Given the description of an element on the screen output the (x, y) to click on. 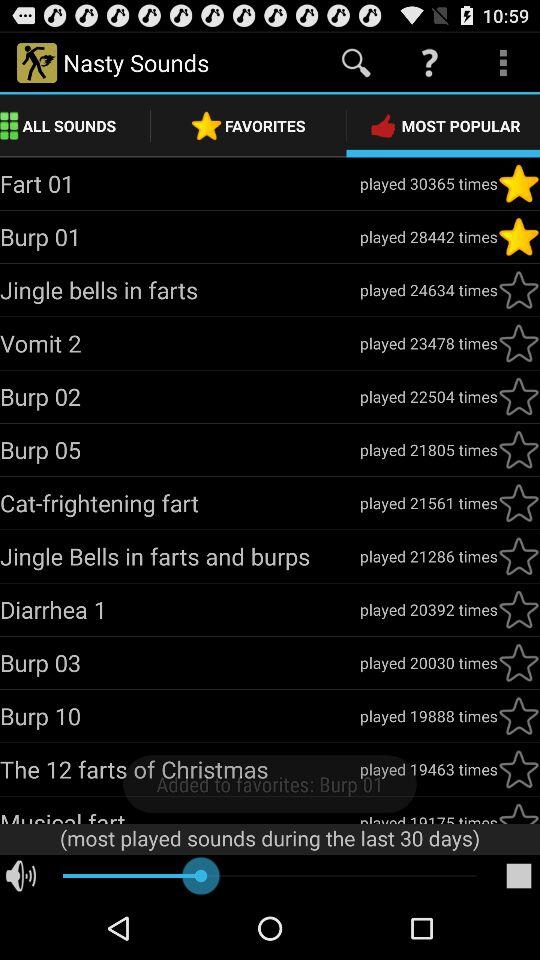
favorite (519, 812)
